Given the description of an element on the screen output the (x, y) to click on. 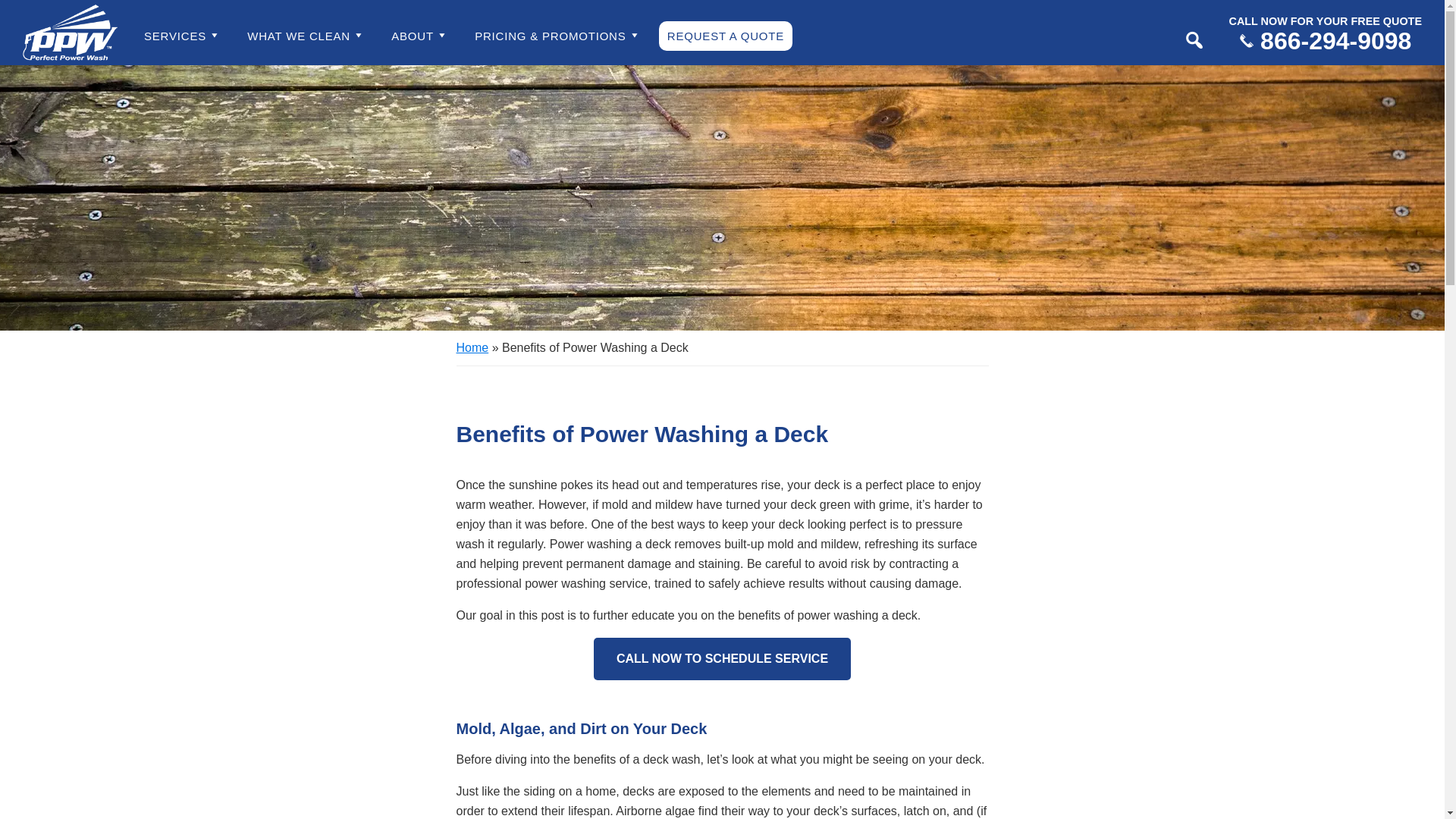
SERVICES (182, 33)
866-294-9098 (1325, 40)
WHAT WE CLEAN (306, 33)
ABOUT (419, 33)
